Given the description of an element on the screen output the (x, y) to click on. 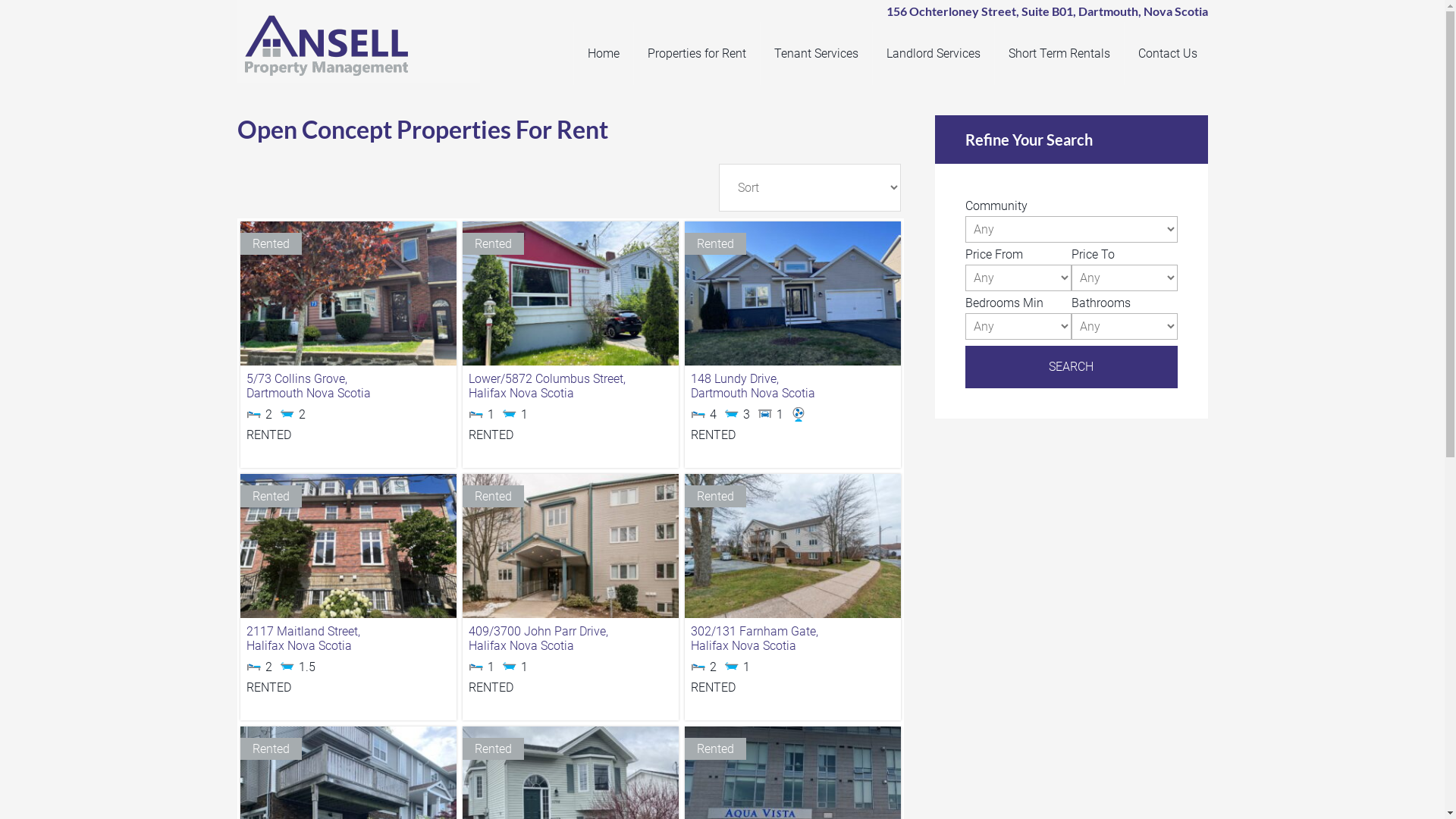
Short Term Rentals Element type: text (1058, 52)
Tenant Services Element type: text (815, 52)
Air Conditioning Element type: hover (803, 415)
Rented Element type: text (792, 545)
302/131 Farnham Gate,
Halifax Nova Scotia Element type: text (792, 638)
Rented Element type: text (792, 293)
Landlord Services Element type: text (933, 52)
Contact Us Element type: text (1167, 52)
5/73 Collins Grove,
Dartmouth Nova Scotia Element type: text (348, 386)
Properties for Rent Element type: text (695, 52)
Search Element type: text (1070, 366)
Rented Element type: text (347, 545)
Rented Element type: text (570, 293)
Rented Element type: text (347, 293)
Lower/5872 Columbus Street,
Halifax Nova Scotia Element type: text (570, 386)
2117 Maitland Street,
Halifax Nova Scotia Element type: text (348, 638)
409/3700 John Parr Drive,
Halifax Nova Scotia Element type: text (570, 638)
Rented Element type: text (570, 545)
Ansell Property Management Element type: text (365, 45)
148 Lundy Drive,
Dartmouth Nova Scotia Element type: text (792, 386)
Home Element type: text (603, 52)
